Given the description of an element on the screen output the (x, y) to click on. 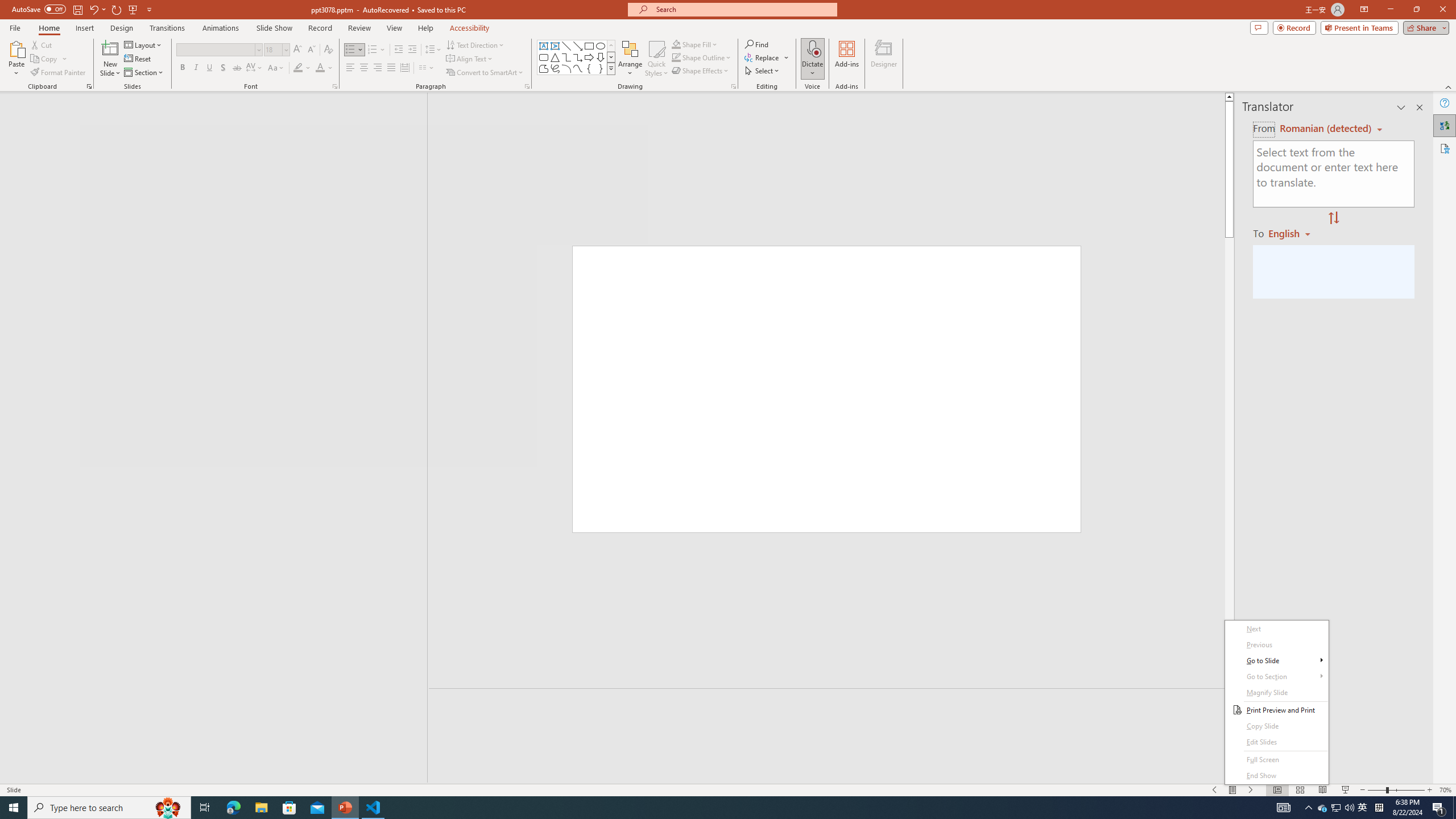
Magnify Slide (1276, 692)
Edit Slides (1276, 742)
Shape Outline Green, Accent 1 (675, 56)
